Given the description of an element on the screen output the (x, y) to click on. 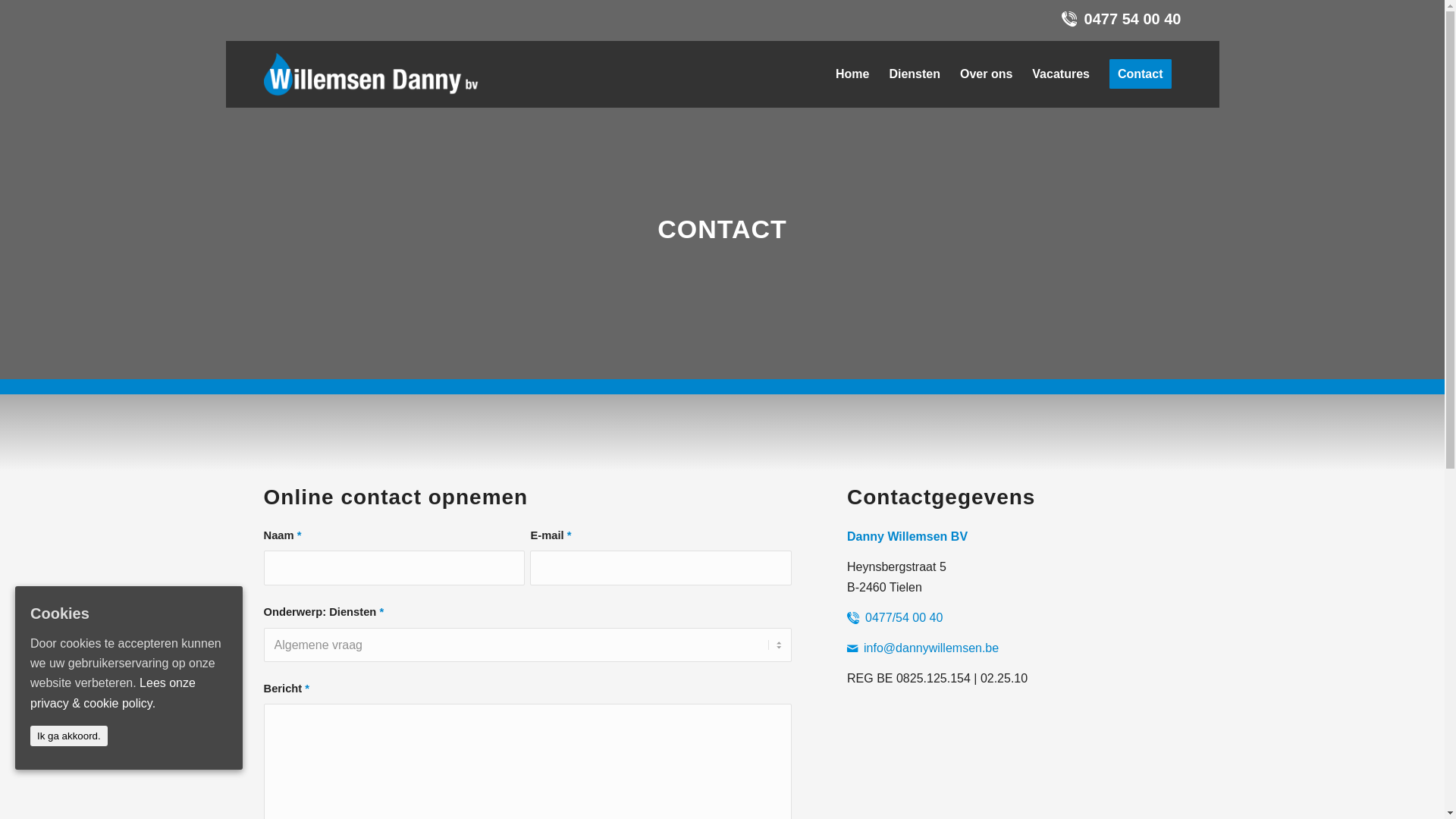
Lees onze privacy & cookie policy. Element type: text (112, 692)
Vacatures Element type: text (1060, 73)
Ik ga akkoord. Element type: text (68, 735)
Contact Element type: text (1140, 73)
info@dannywillemsen.be Element type: text (930, 647)
0477/54 00 40 Element type: text (903, 617)
0477 54 00 40 Element type: text (1132, 18)
Diensten Element type: text (914, 73)
Over ons Element type: text (986, 73)
Home Element type: text (851, 73)
